Given the description of an element on the screen output the (x, y) to click on. 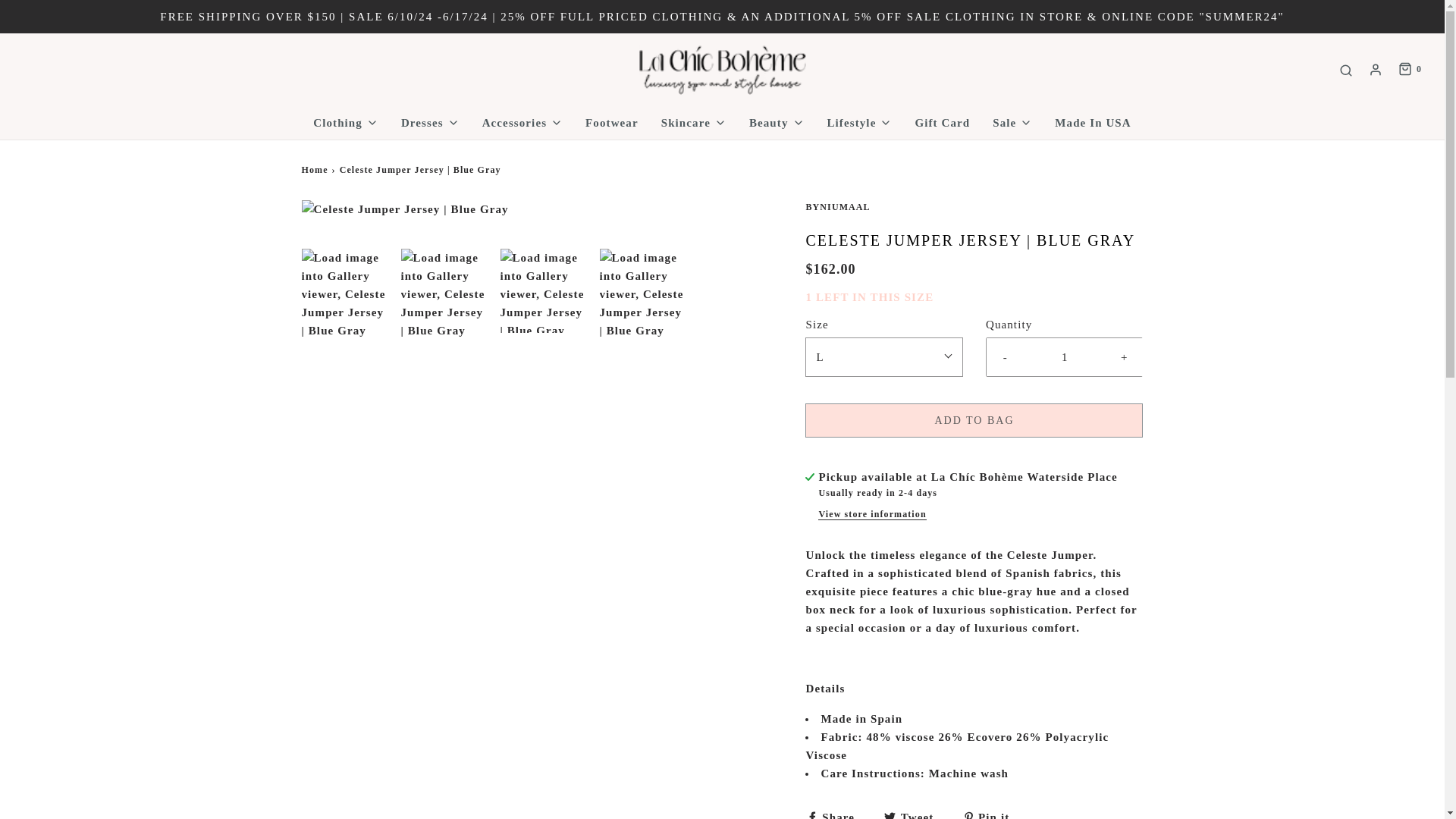
Bag (1409, 69)
Log in (1375, 69)
Search (1345, 69)
1 (1064, 356)
Back to the frontpage (316, 169)
